Given the description of an element on the screen output the (x, y) to click on. 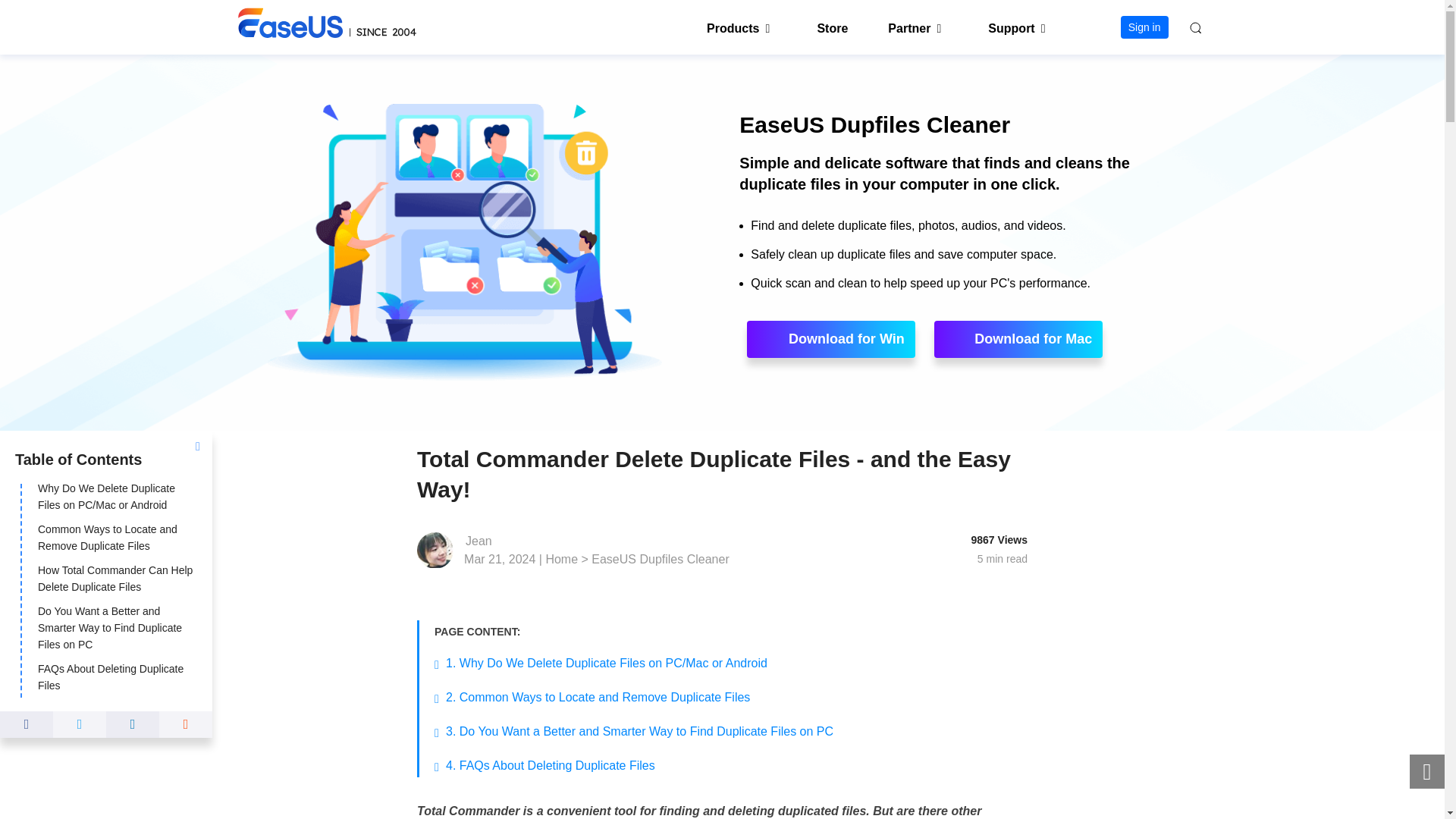
2. Common Ways to Locate and Remove Duplicate Files  (599, 697)
4. FAQs About Deleting Duplicate Files  (551, 765)
Home (561, 558)
 Download for Win (830, 339)
EaseUS Dupfiles Cleaner (660, 558)
Sign in (1145, 26)
 Download for Mac (1018, 339)
